Given the description of an element on the screen output the (x, y) to click on. 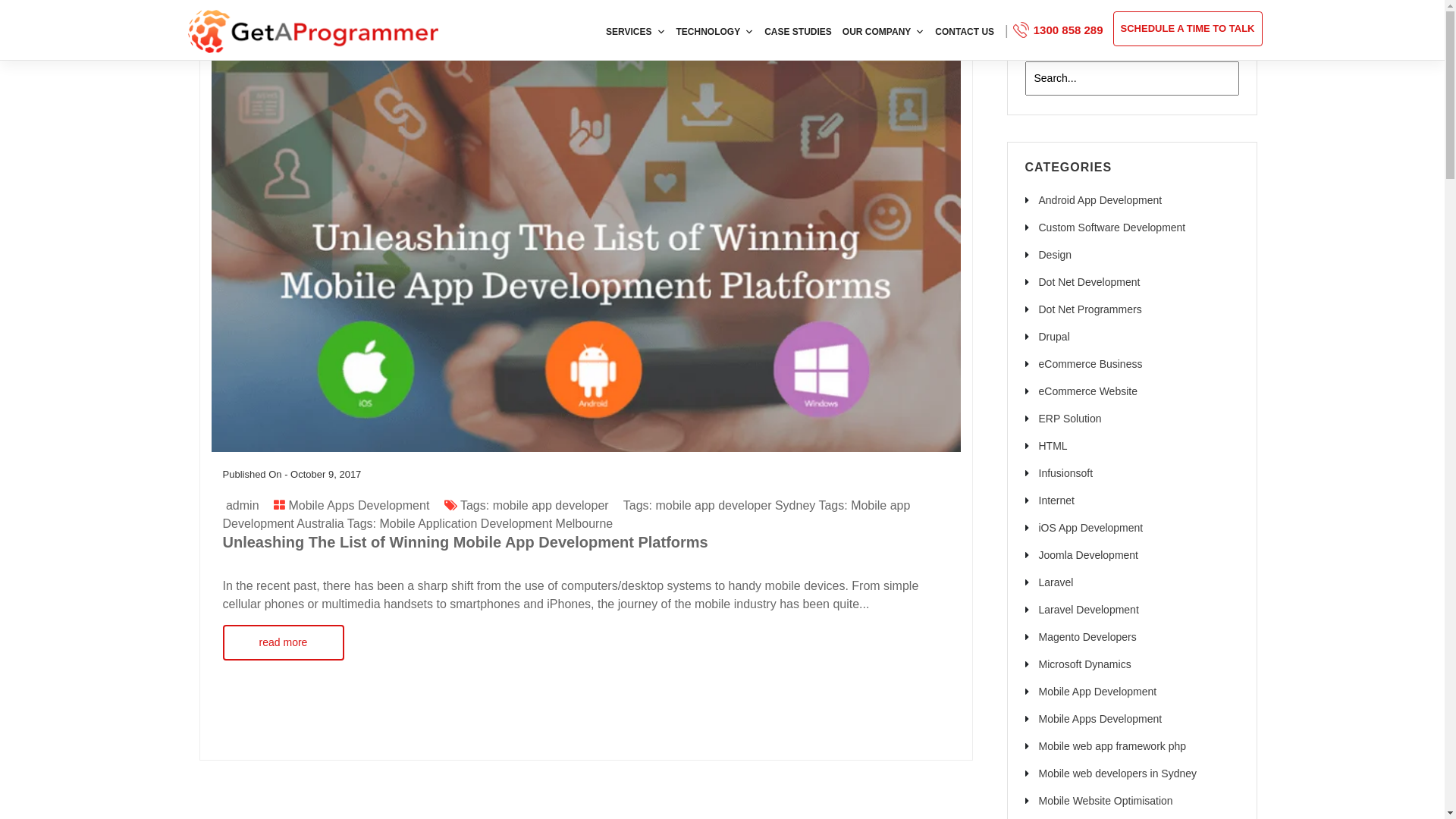
Internet Element type: text (1056, 500)
Drupal Element type: text (1054, 336)
Custom Software Development Element type: text (1112, 227)
Mobile web developers in Sydney Element type: text (1117, 773)
OUR COMPANY Element type: text (885, 31)
Mobile Apps Development Element type: text (1100, 718)
Joomla Development Element type: text (1088, 555)
Mobile Apps Development Element type: text (358, 504)
iOS App Development Element type: text (1090, 527)
Design Element type: text (1055, 254)
CASE STUDIES Element type: text (799, 31)
Laravel Development Element type: text (1088, 609)
HTML Element type: text (1052, 445)
Laravel Element type: text (1055, 582)
Microsoft Dynamics Element type: text (1084, 664)
Infusionsoft Element type: text (1065, 473)
TECHNOLOGY Element type: text (716, 31)
SERVICES Element type: text (637, 31)
mobile app developer Element type: text (550, 504)
Mobile app Development Australia Element type: text (566, 514)
Magento Developers Element type: text (1087, 636)
October 9, 2017 Element type: text (325, 474)
ERP Solution Element type: text (1069, 418)
Android App Development Element type: text (1100, 200)
eCommerce Business Element type: text (1090, 363)
Mobile App Development Element type: text (1097, 691)
Mobile Website Optimisation Element type: text (1105, 800)
read more Element type: text (283, 642)
1300 858 289 Element type: text (1058, 30)
admin Element type: text (242, 504)
mobile app developer Sydney Element type: text (735, 504)
SCHEDULE A TIME TO TALK Element type: text (1187, 28)
Dot Net Development Element type: text (1089, 282)
Mobile web app framework php Element type: text (1112, 746)
Dot Net Programmers Element type: text (1090, 309)
CONTACT US Element type: text (966, 31)
eCommerce Website Element type: text (1087, 391)
Mobile Application Development Melbourne Element type: text (495, 523)
